Given the description of an element on the screen output the (x, y) to click on. 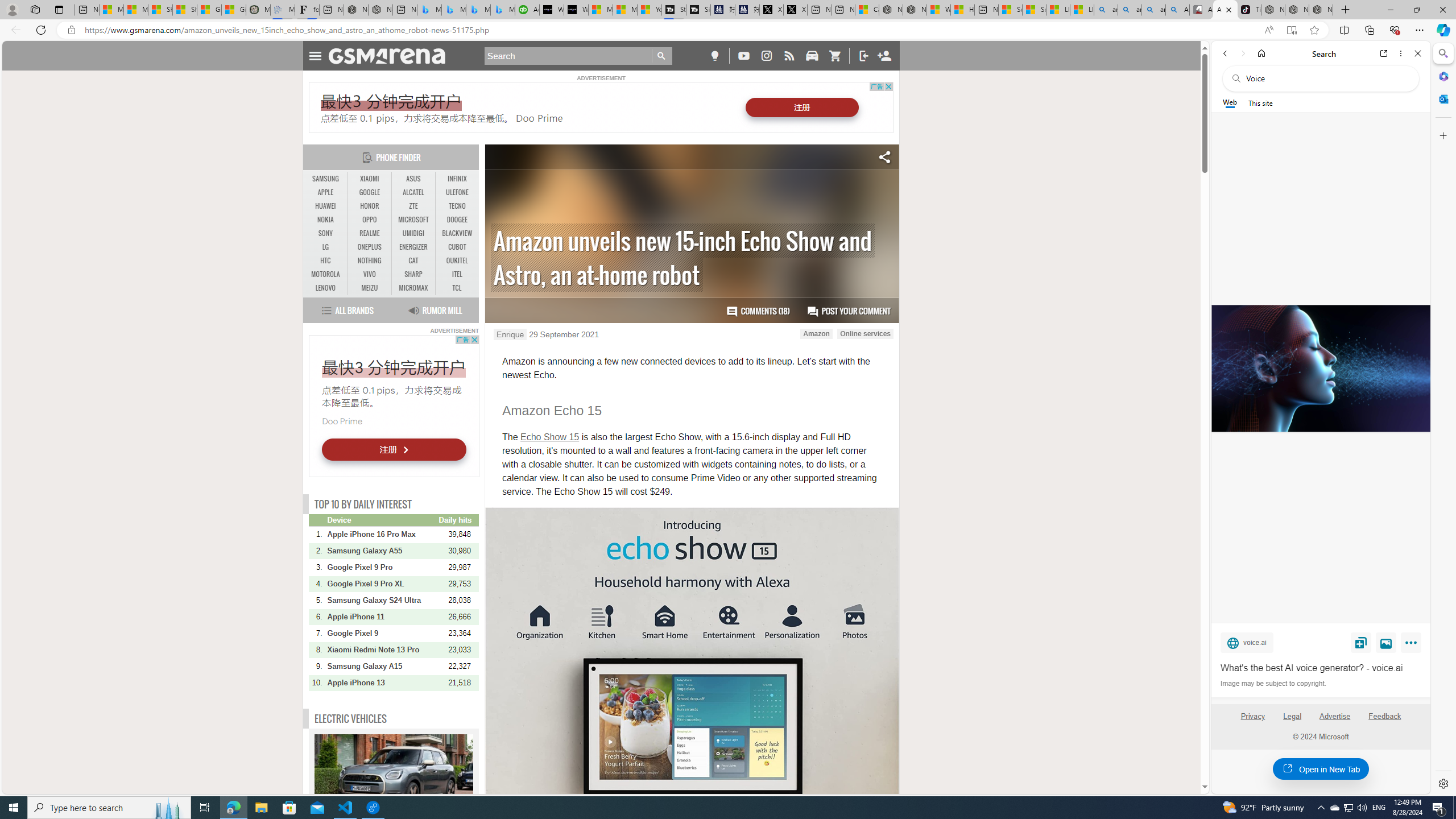
REALME (369, 233)
Amazon Echo Robot - Search Images (1176, 9)
ITEL (457, 273)
ULEFONE (457, 192)
Enrique (510, 333)
Apple iPhone 16 Pro Max (381, 534)
